Given the description of an element on the screen output the (x, y) to click on. 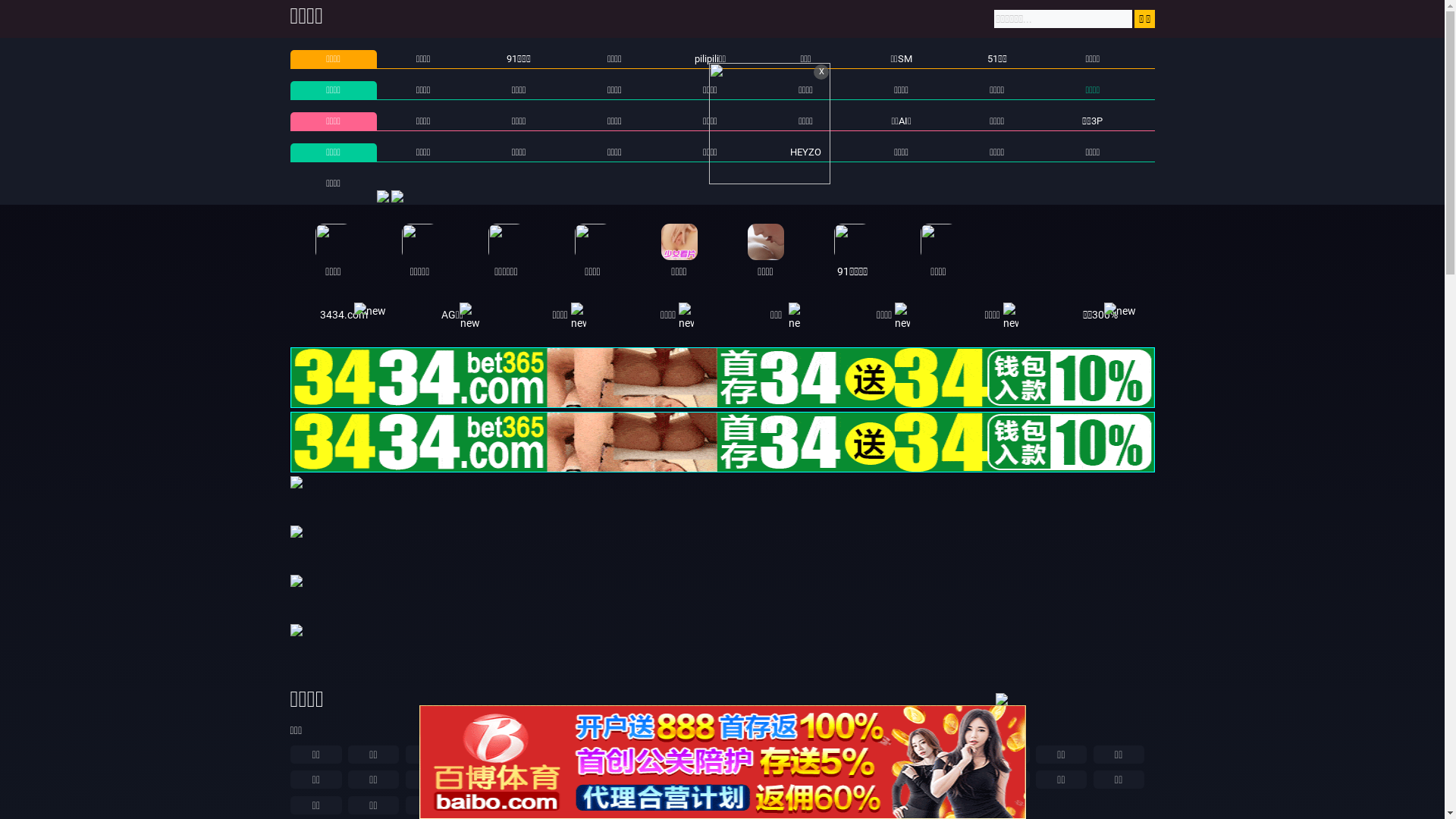
3P Element type: text (774, 805)
HEYZO Element type: text (805, 151)
3434.com Element type: text (343, 314)
